Given the description of an element on the screen output the (x, y) to click on. 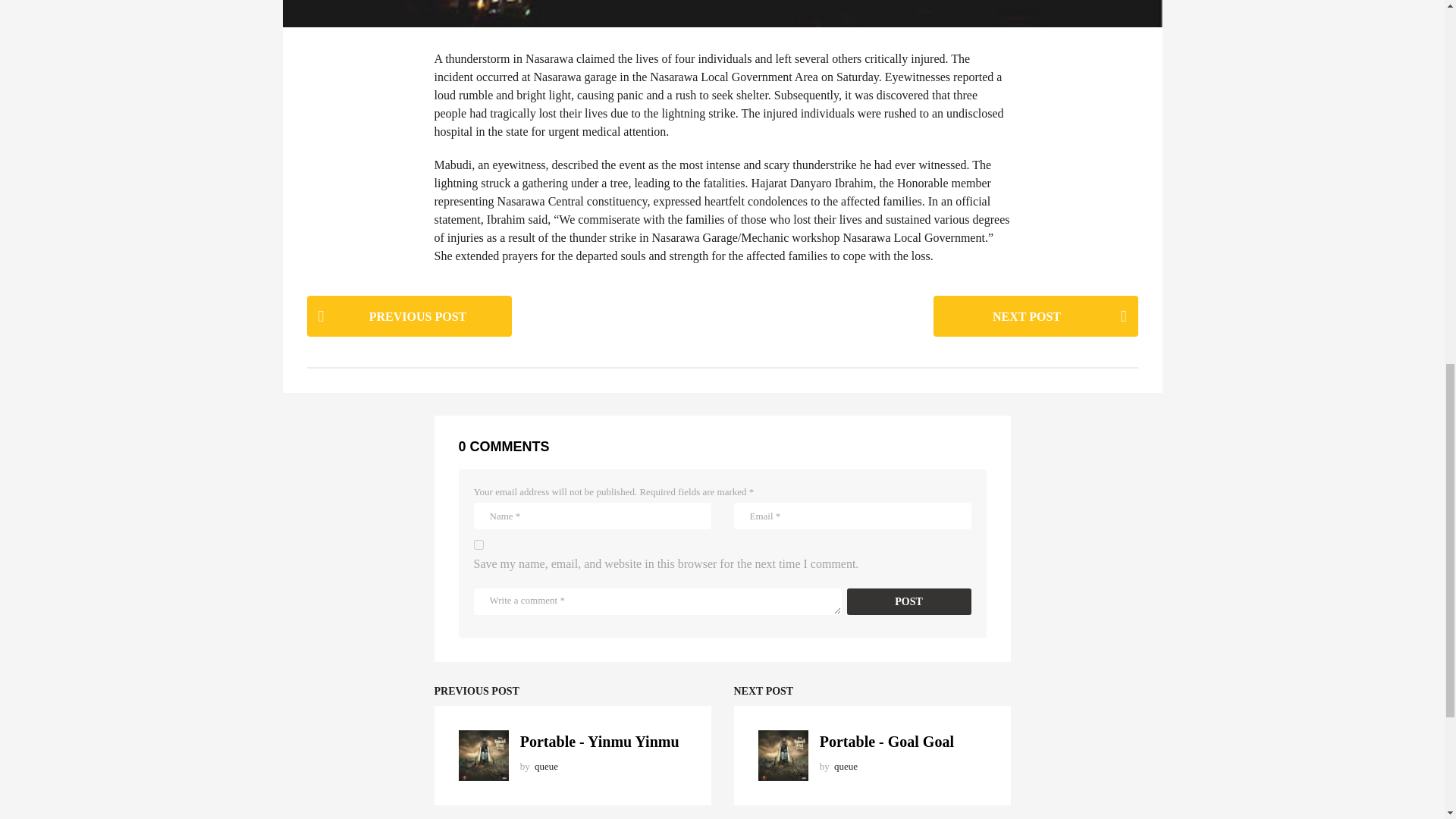
Portable - Yinmu Yinmu (599, 741)
Portable - Goal Goal (886, 741)
PREVIOUS POST (408, 315)
NEXT POST (1035, 315)
queue (845, 766)
Post (908, 601)
queue (545, 766)
Post (908, 601)
yes (478, 544)
